Given the description of an element on the screen output the (x, y) to click on. 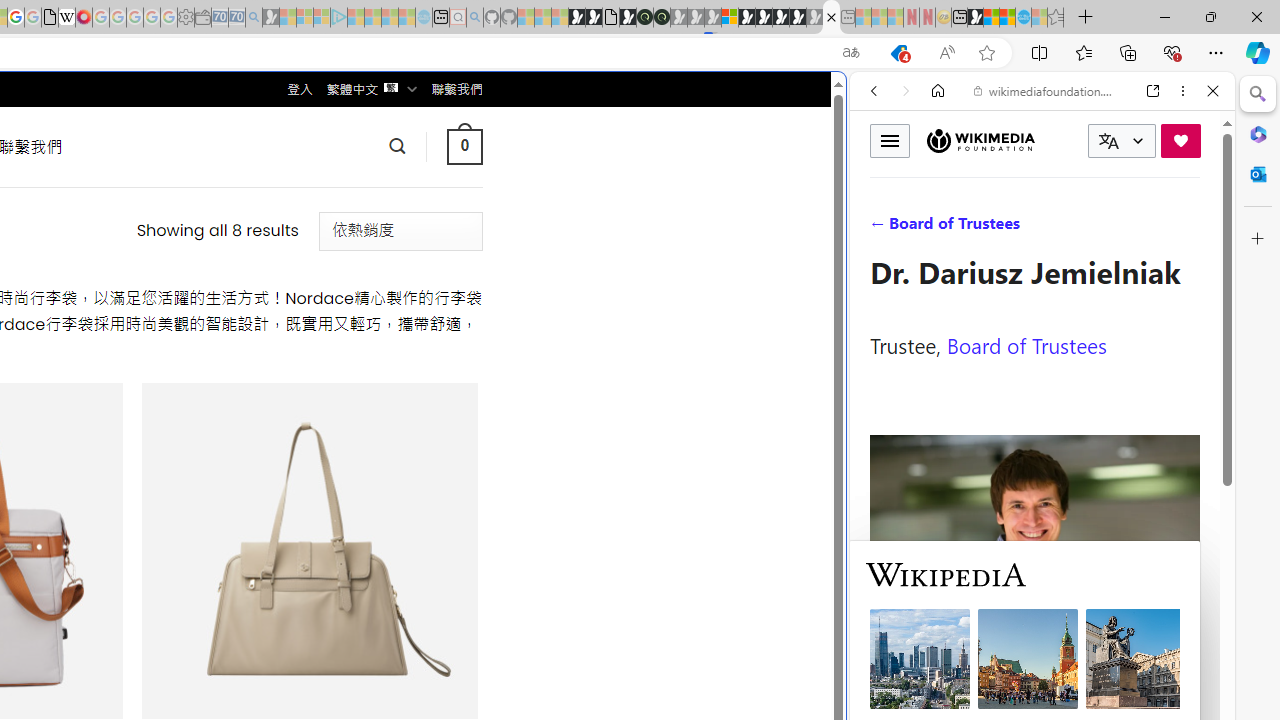
Sign in to your account (729, 17)
CURRENT LANGUAGE: (1121, 141)
Wikimedia Foundation (980, 140)
